Given the description of an element on the screen output the (x, y) to click on. 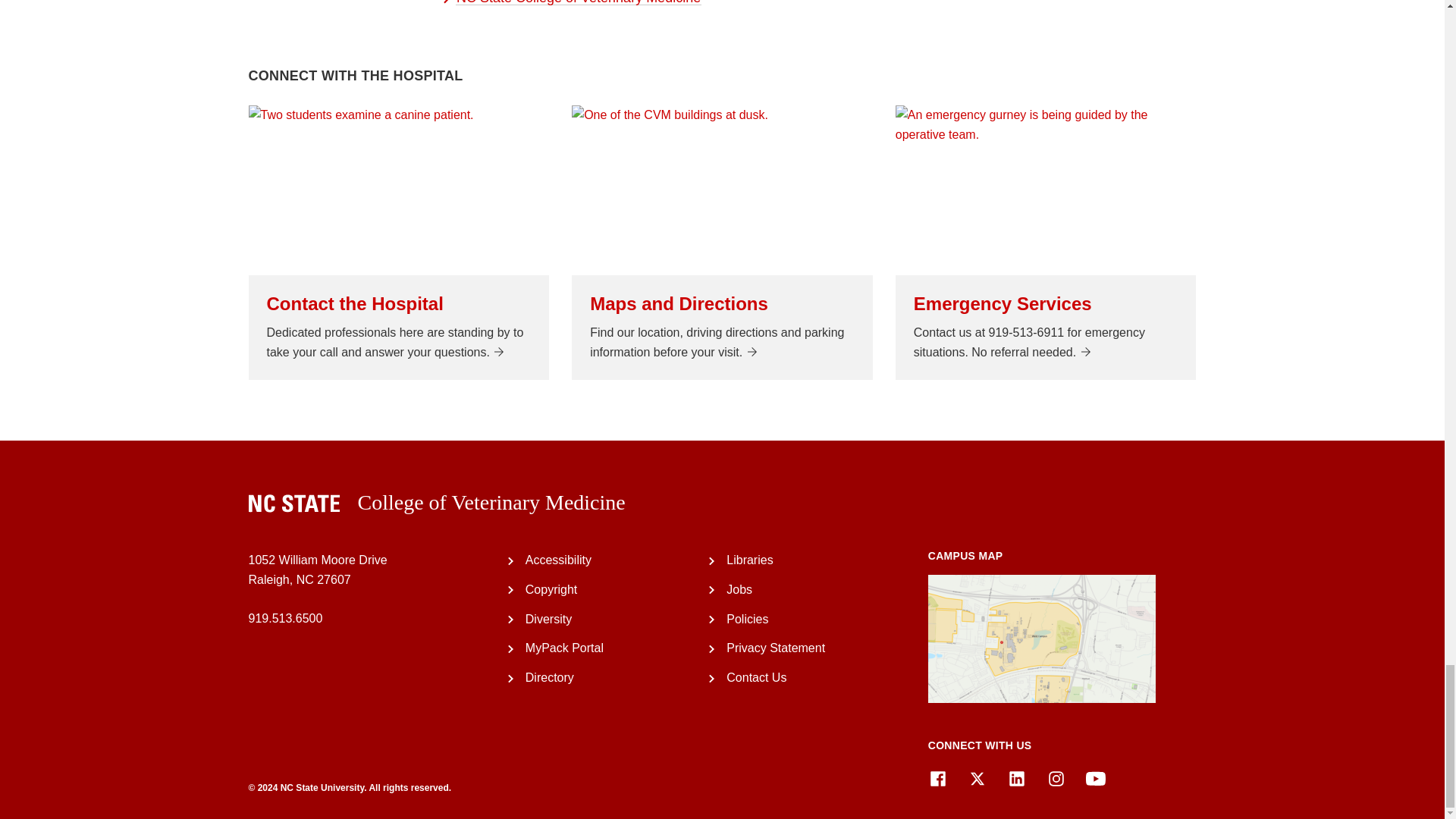
Facebook (937, 778)
X (977, 778)
LinkedIn (1016, 778)
Instagram (1055, 778)
YouTube (1095, 778)
